Given the description of an element on the screen output the (x, y) to click on. 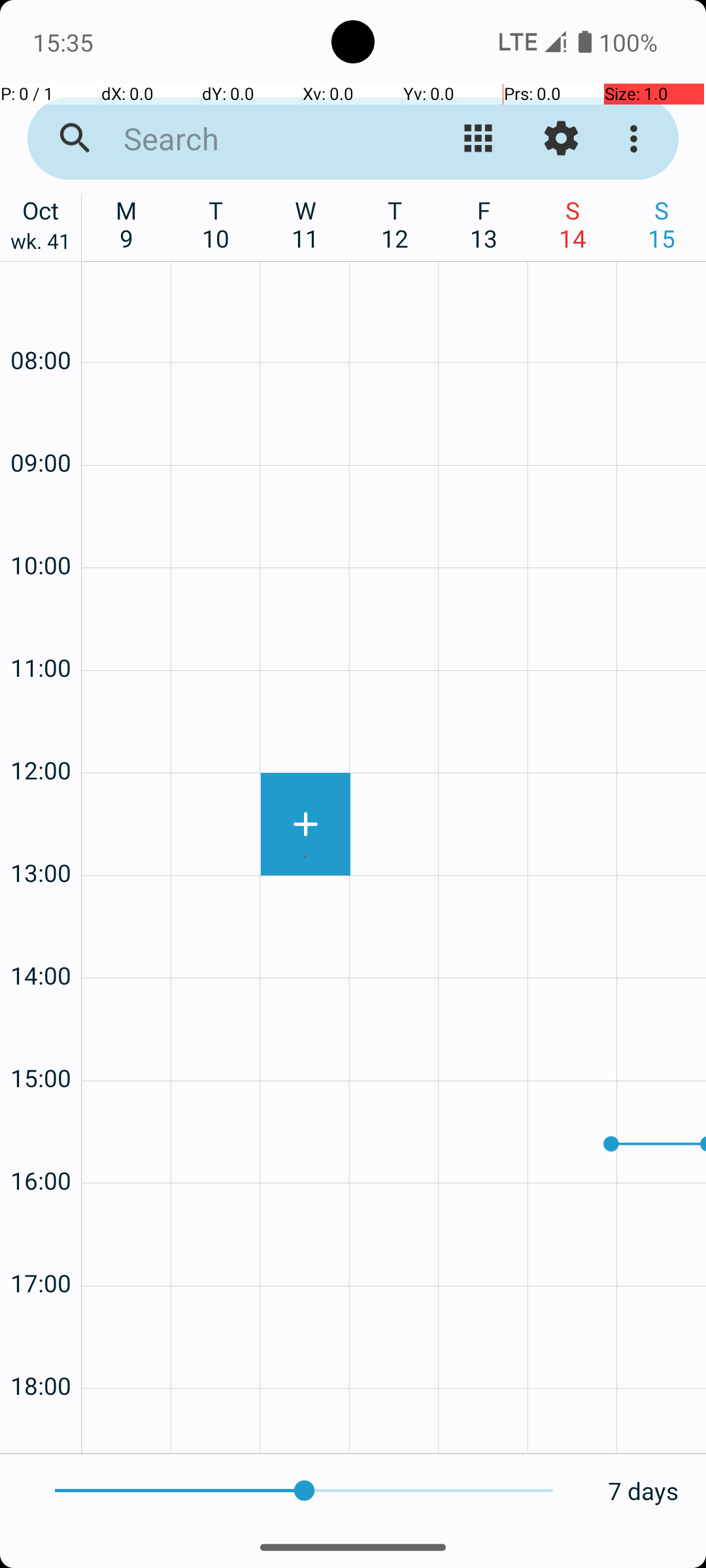
wk. 41 Element type: android.widget.TextView (40, 243)
M
9 Element type: android.widget.TextView (126, 223)
T
10 Element type: android.widget.TextView (215, 223)
W
11 Element type: android.widget.TextView (305, 223)
T
12 Element type: android.widget.TextView (394, 223)
F
13 Element type: android.widget.TextView (483, 223)
S
14 Element type: android.widget.TextView (572, 223)
